Given the description of an element on the screen output the (x, y) to click on. 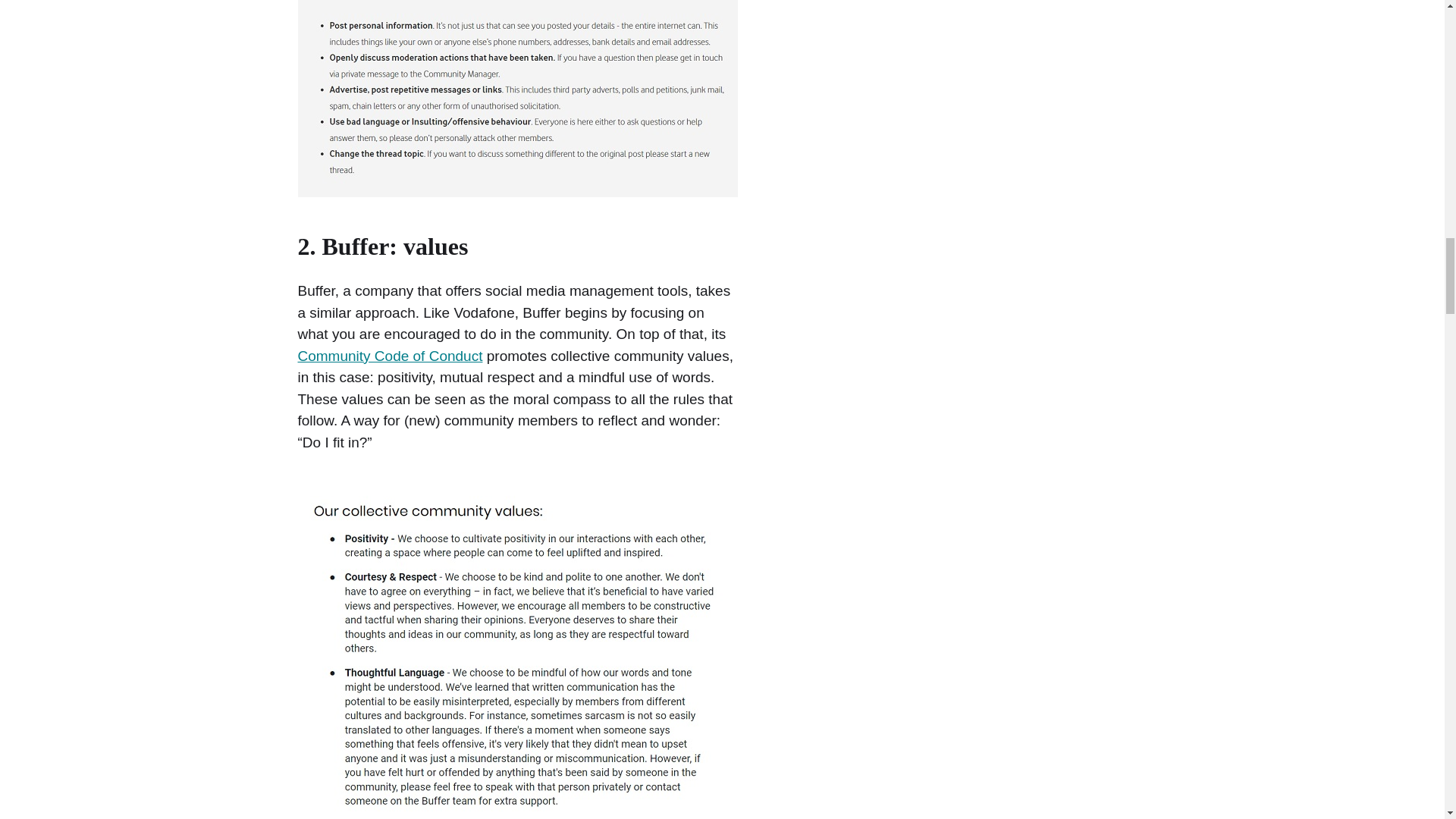
Community Code of Conduct (389, 355)
